Given the description of an element on the screen output the (x, y) to click on. 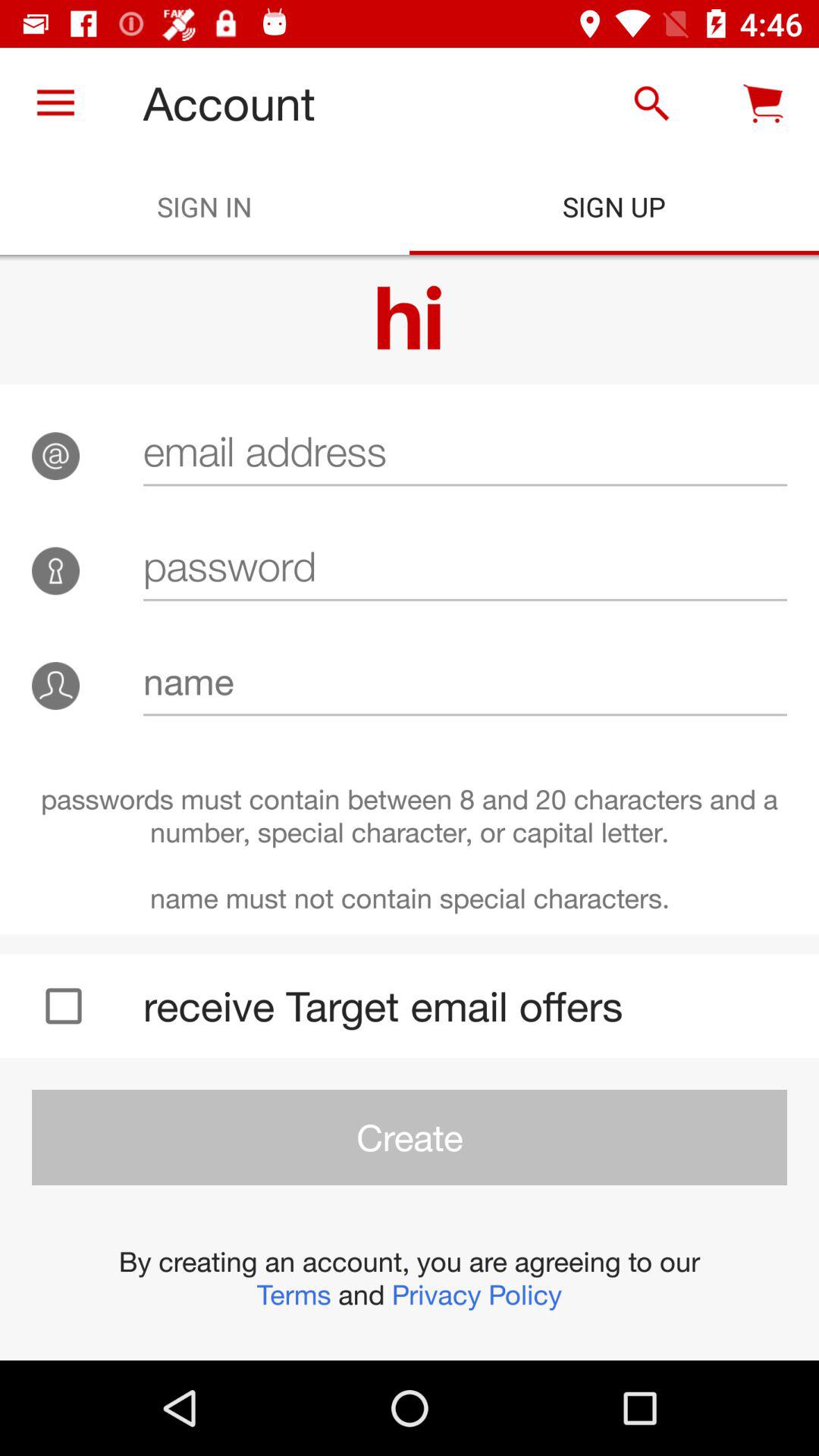
jump until by creating an item (409, 1277)
